Given the description of an element on the screen output the (x, y) to click on. 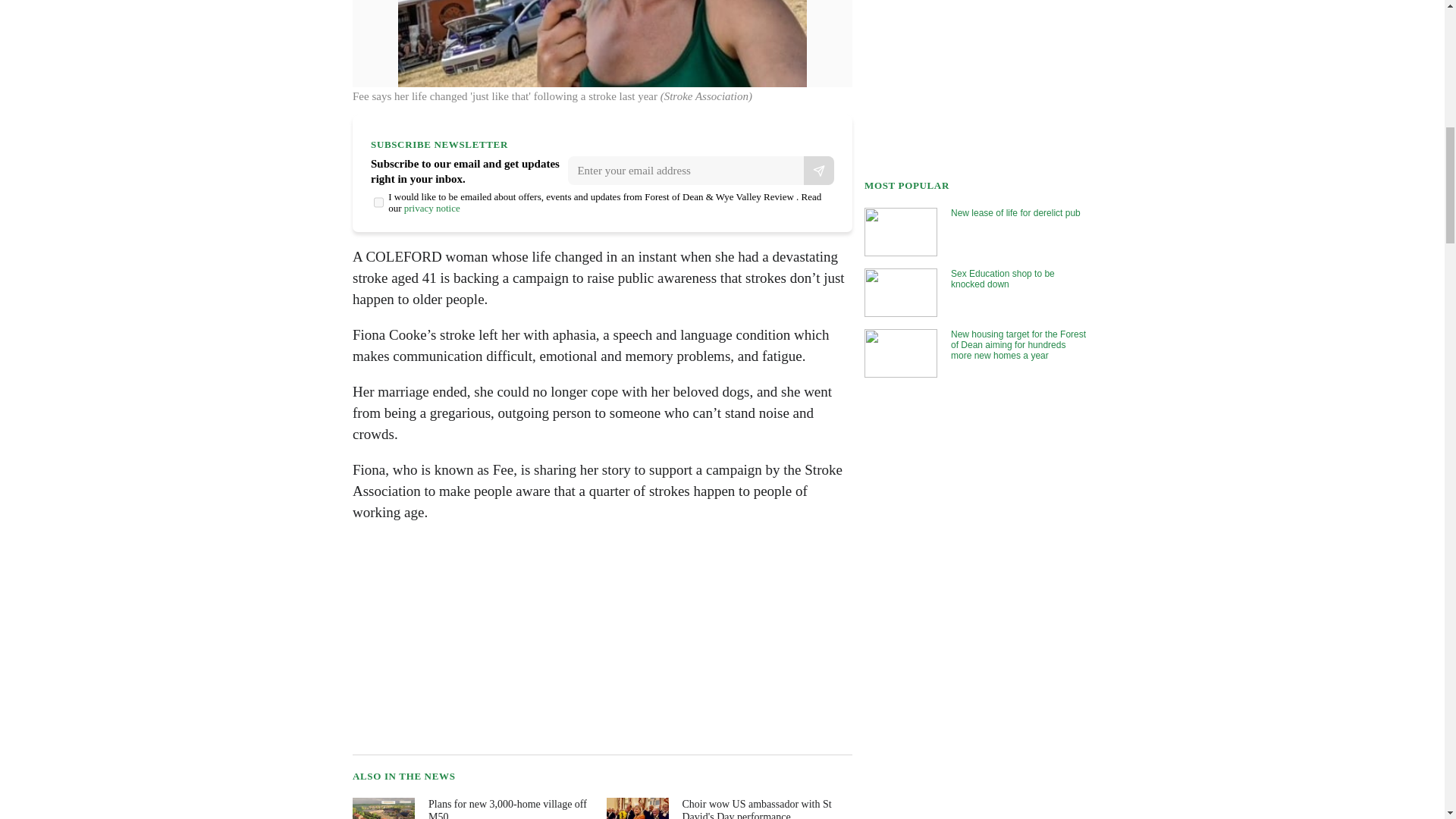
Sex Education shop to be knocked down (975, 292)
privacy notice (432, 207)
Plans for new 3,000-home village off M50 (473, 808)
Choir wow US ambassador with St David's Day performance (727, 808)
New lease of life for derelict pub (975, 231)
